Given the description of an element on the screen output the (x, y) to click on. 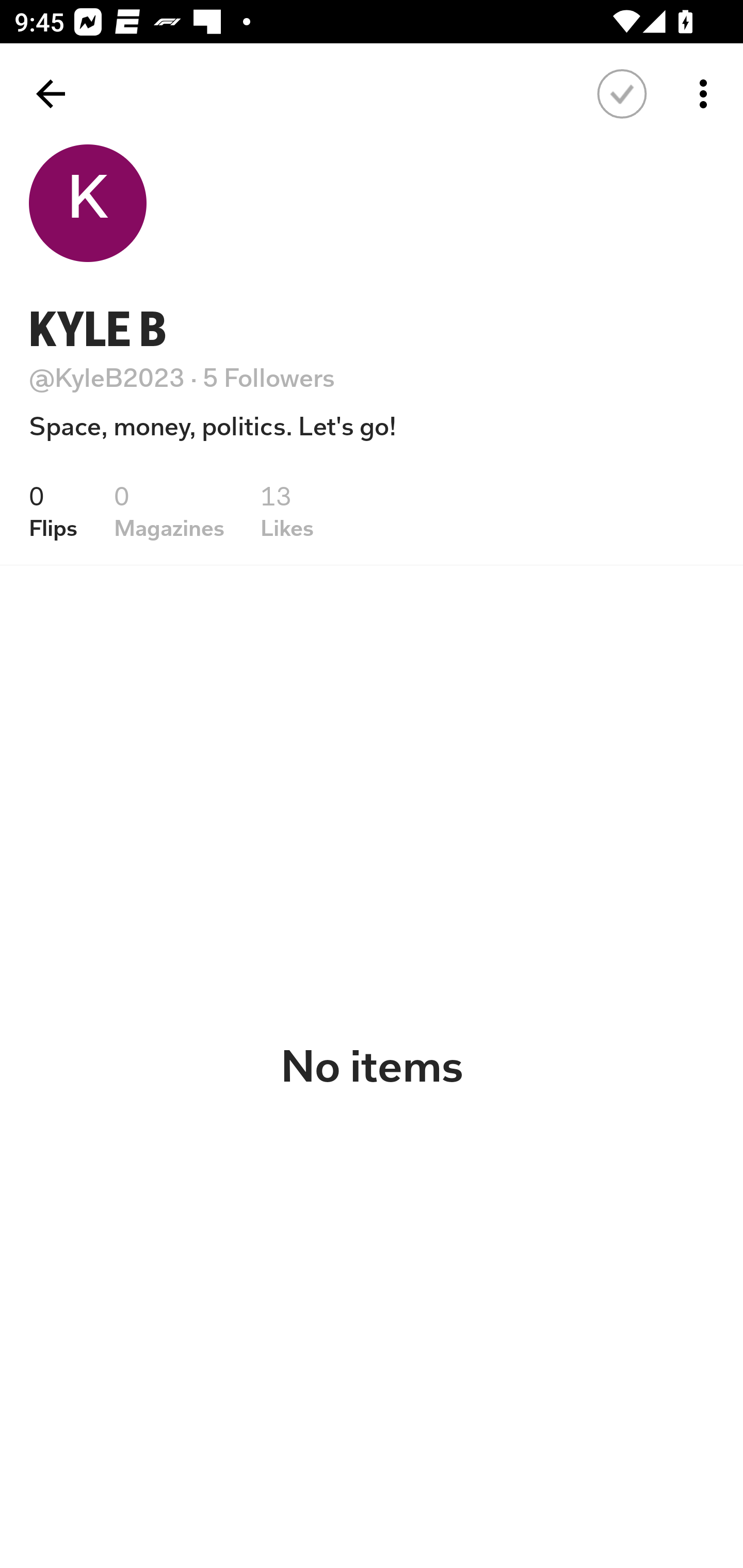
Back (50, 93)
More options (706, 93)
Following (622, 93)
KYLE B (97, 328)
@KyleB2023 (106, 377)
5 Followers (268, 377)
0 Flips (53, 510)
0 Magazines (168, 510)
13 Likes (287, 510)
